Given the description of an element on the screen output the (x, y) to click on. 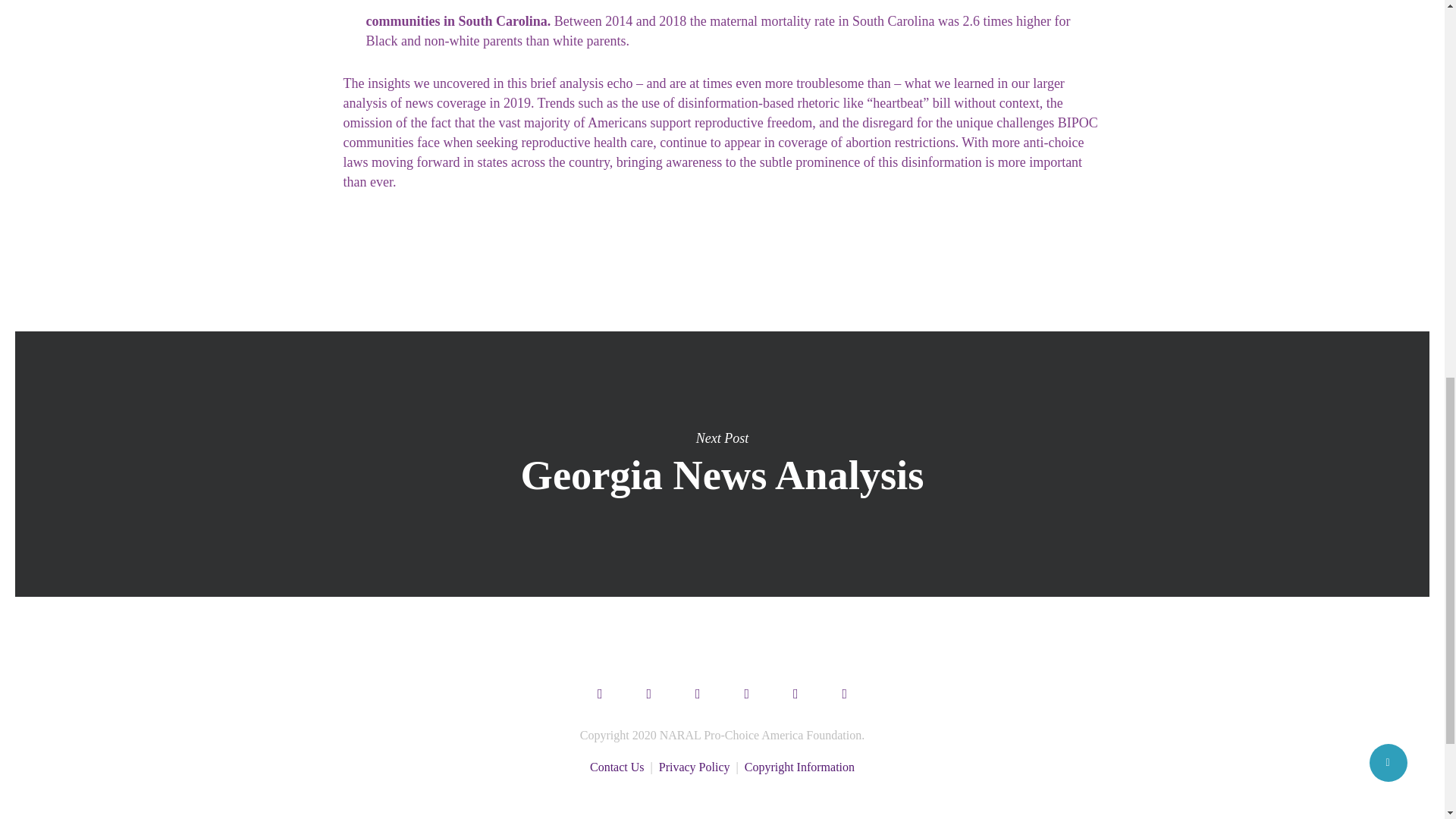
Privacy Policy (694, 766)
Contact Us (617, 766)
Copyright Information (799, 766)
